Given the description of an element on the screen output the (x, y) to click on. 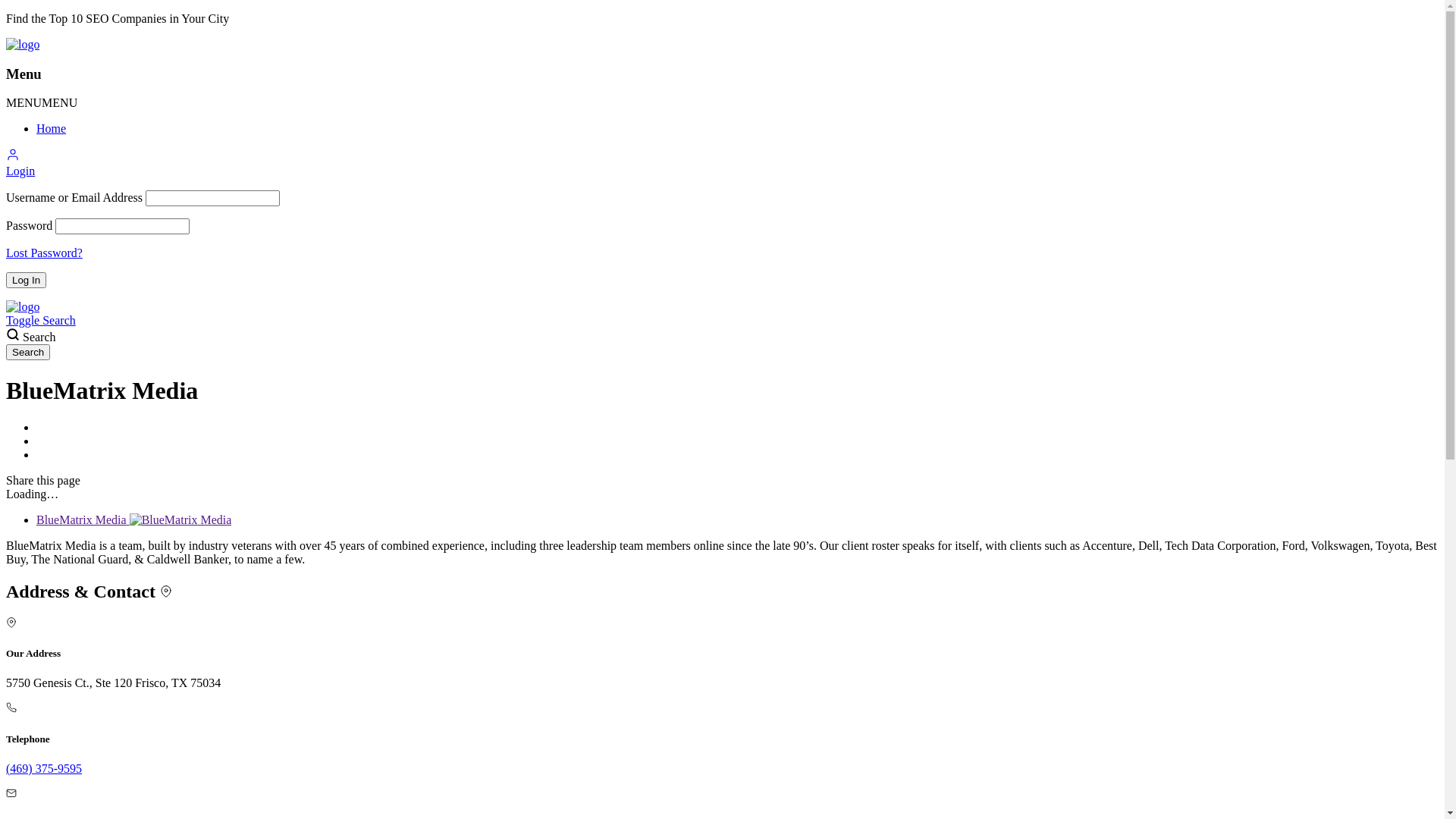
Log In Element type: text (26, 280)
10 Best SEO Companies Element type: hover (22, 306)
10 Best SEO Companies Element type: hover (22, 43)
Home Element type: text (50, 128)
BlueMatrix Media Element type: text (133, 519)
Toggle Search Element type: text (40, 319)
(469) 375-9595 Element type: text (43, 768)
Search Element type: text (28, 352)
Lost Password? Element type: text (44, 252)
Login Element type: text (20, 170)
